Given the description of an element on the screen output the (x, y) to click on. 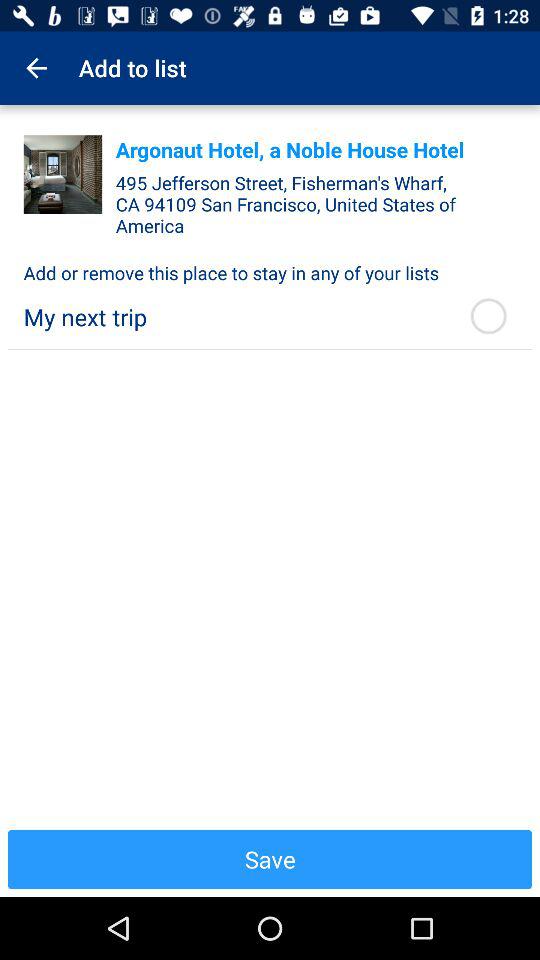
swipe until save button (269, 859)
